Given the description of an element on the screen output the (x, y) to click on. 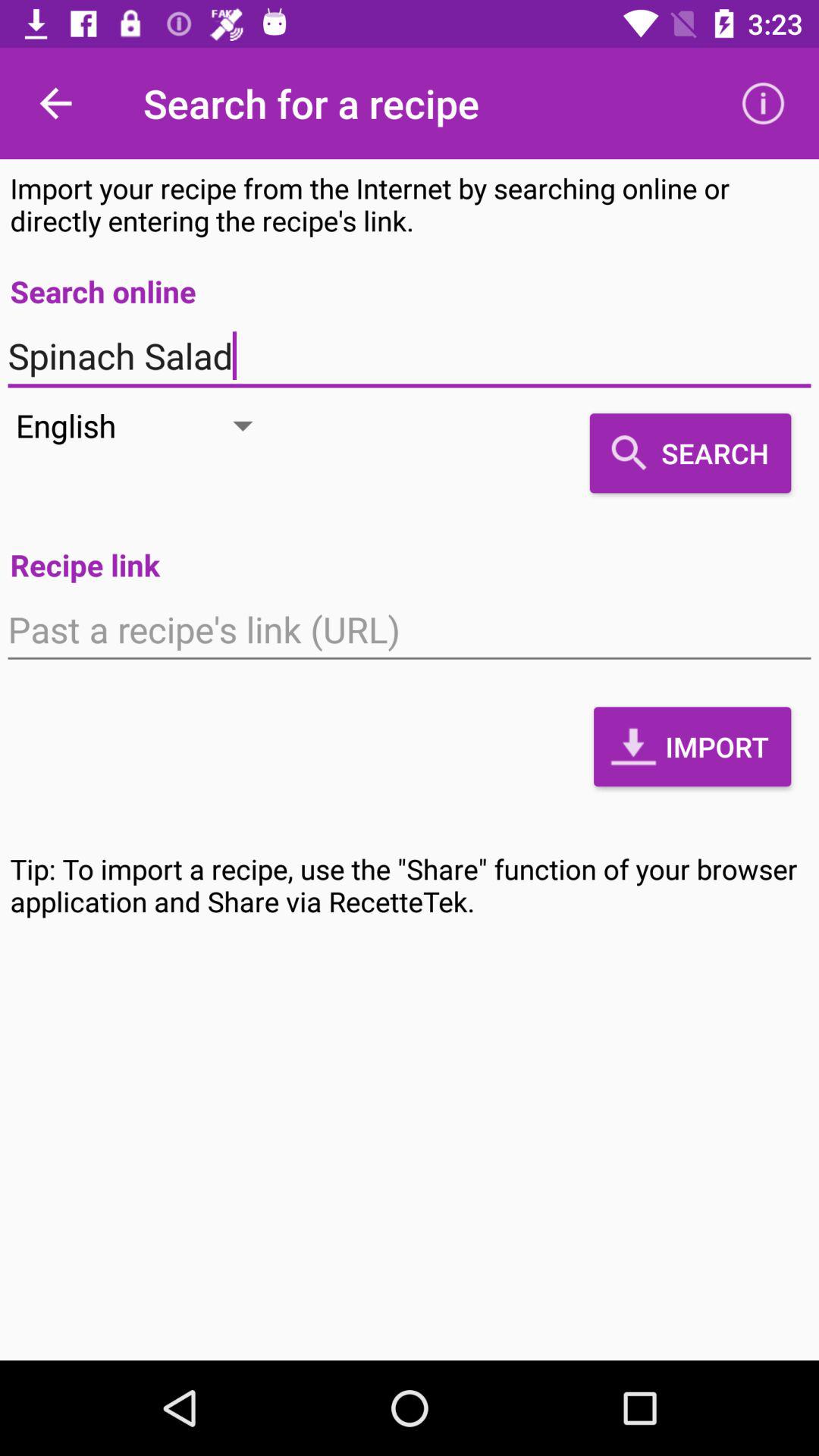
tap the icon above the import item (409, 630)
